Given the description of an element on the screen output the (x, y) to click on. 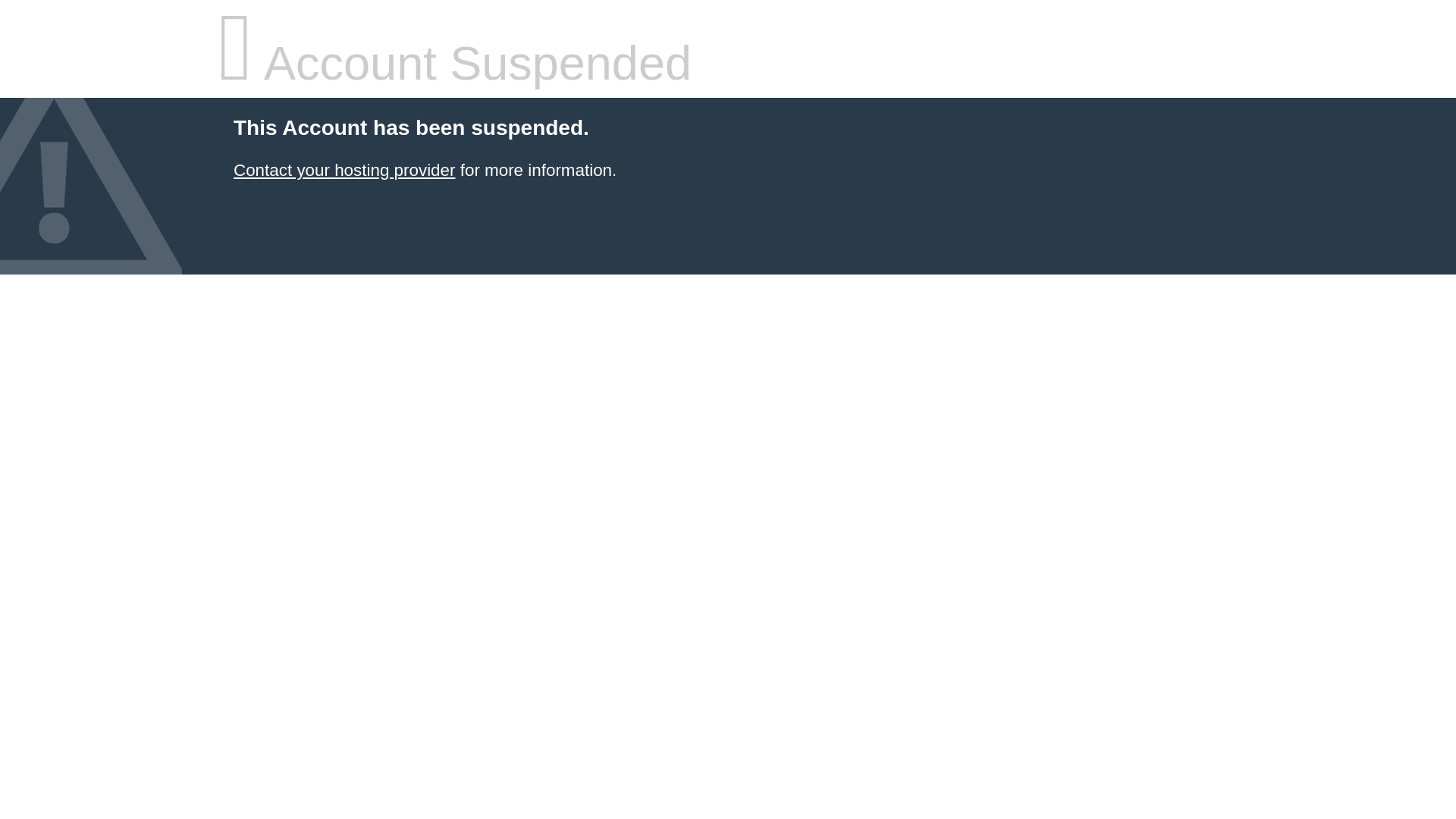
Bibihost (343, 169)
Contact your hosting provider (343, 169)
